Given the description of an element on the screen output the (x, y) to click on. 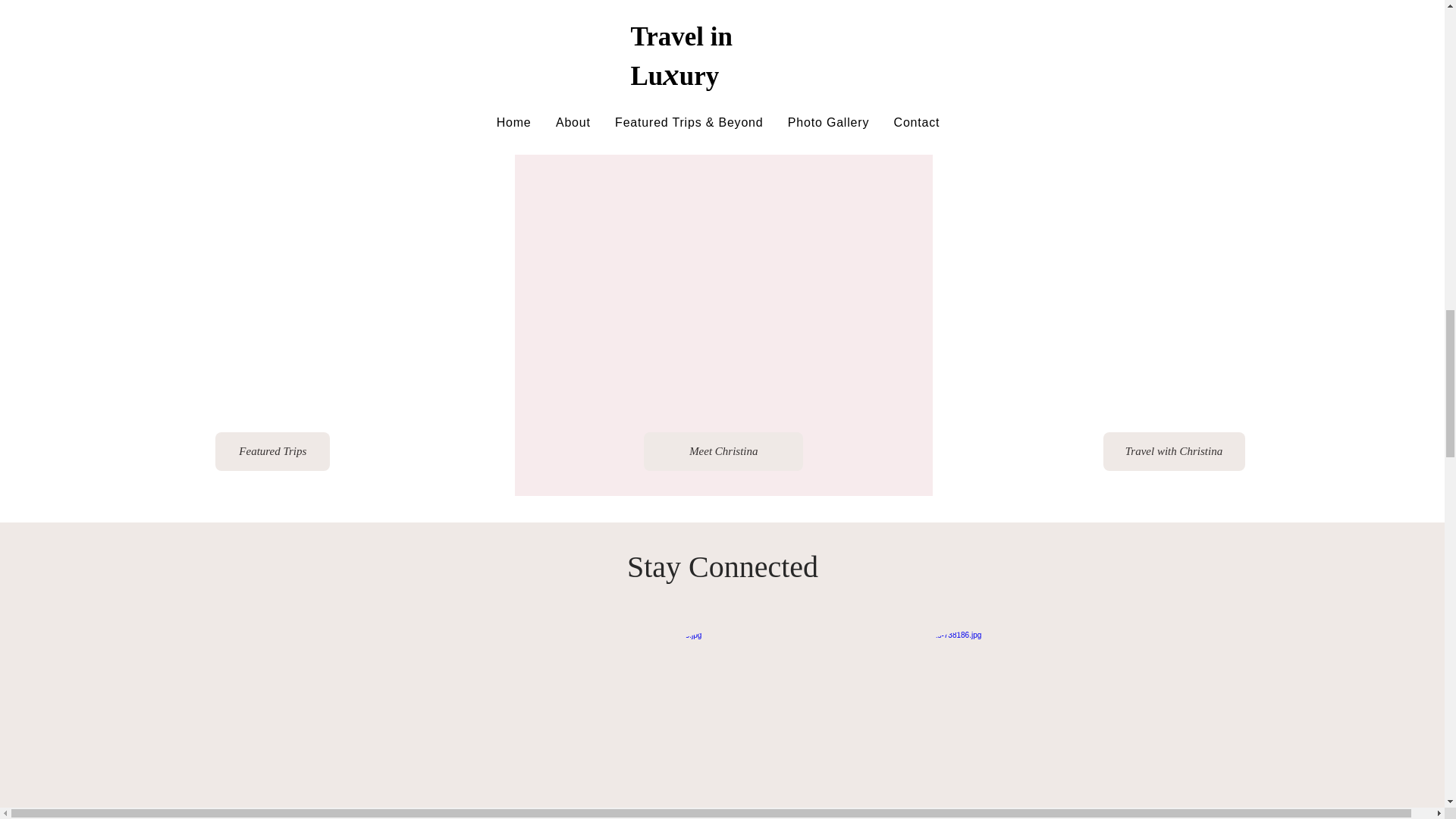
Meet Christina (723, 451)
Featured Trips (272, 451)
Travel with Christina (1173, 451)
